Given the description of an element on the screen output the (x, y) to click on. 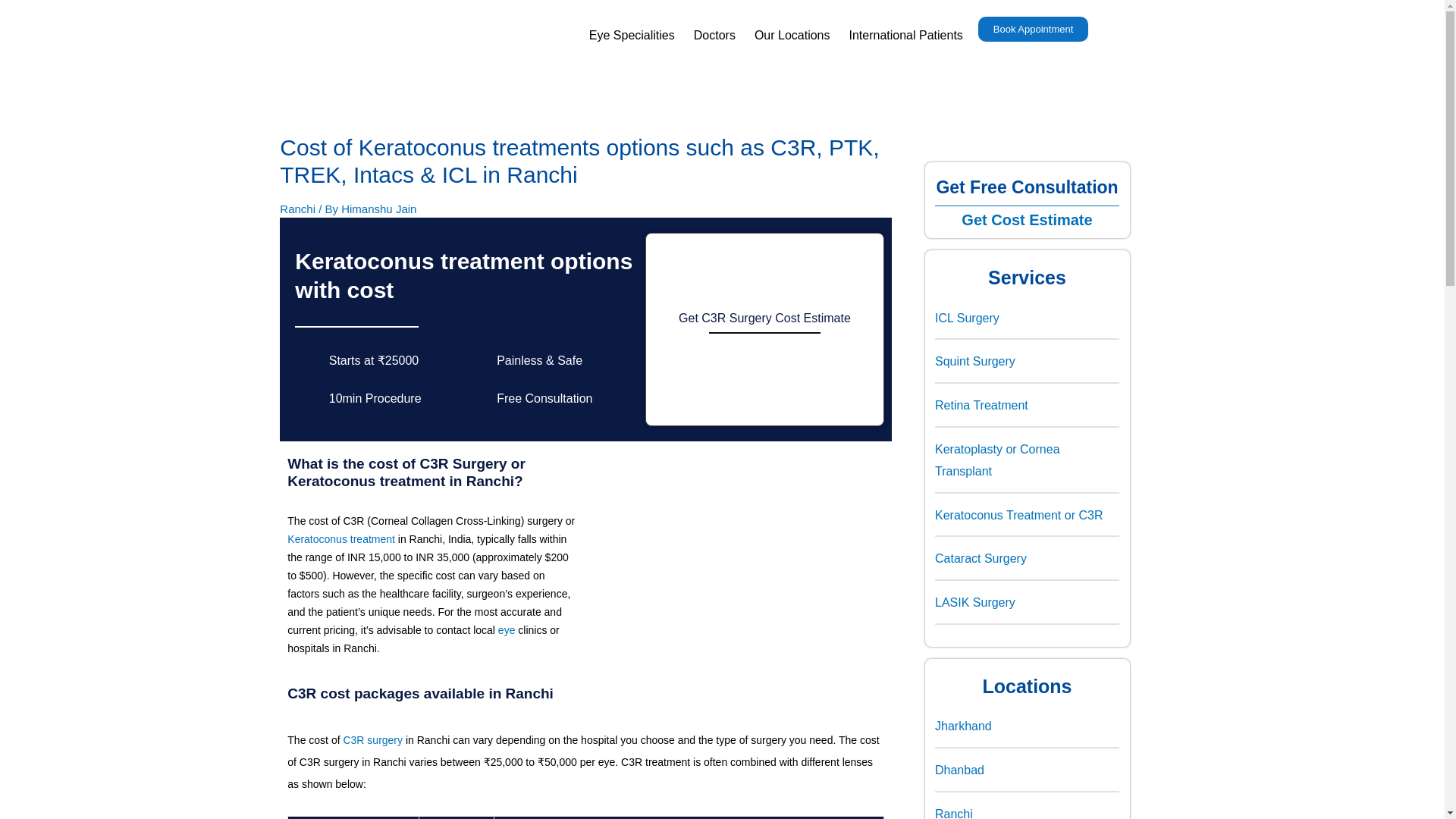
keratoconus treatment (340, 539)
International Patients (905, 35)
Our Locations (791, 35)
Eye Specialities (632, 35)
View all posts by Himanshu Jain (378, 208)
Doctors (714, 35)
C3R Surgery (372, 739)
eye (506, 630)
